Given the description of an element on the screen output the (x, y) to click on. 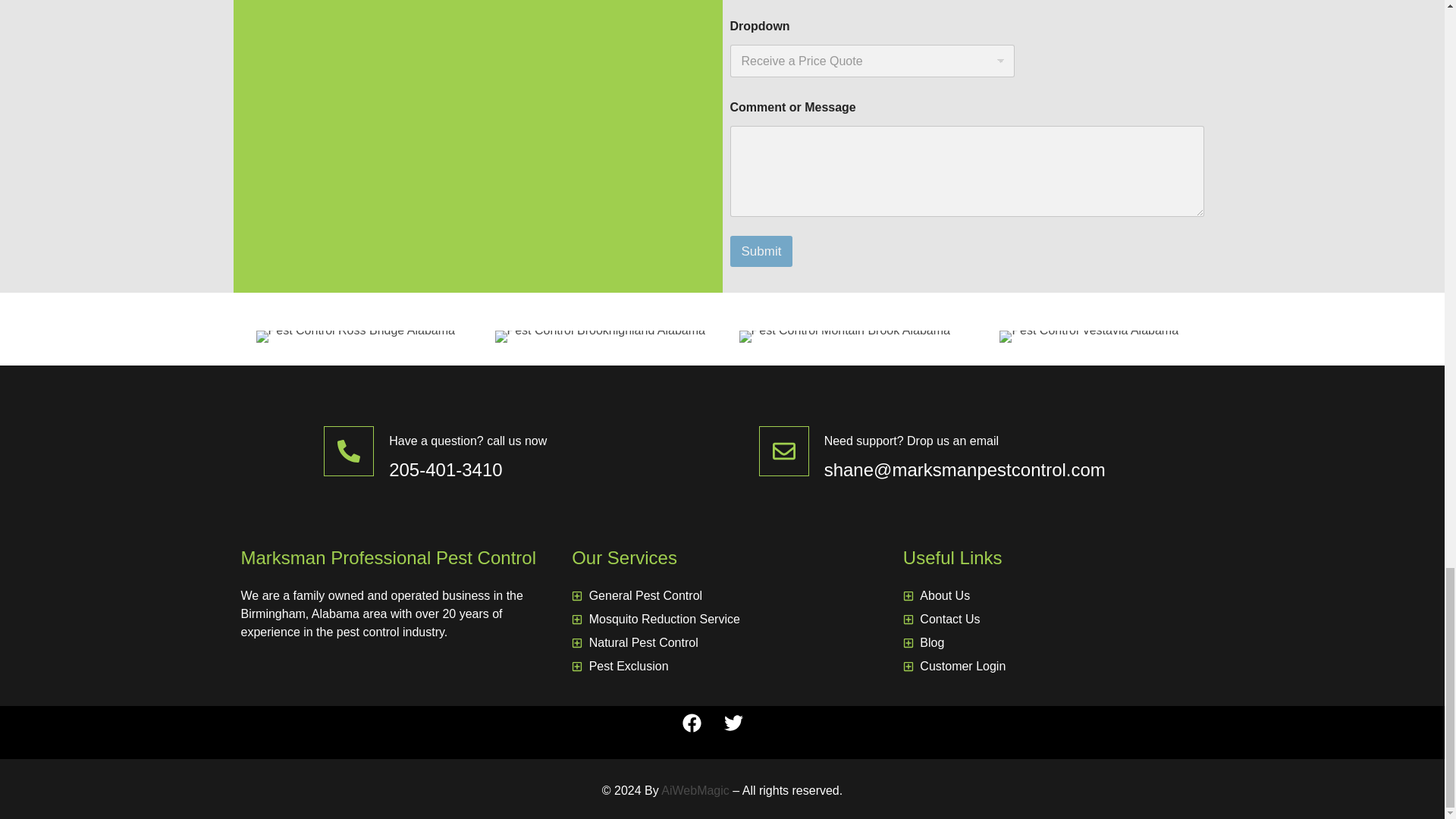
Contact Us (1053, 619)
AiWebMagic (695, 789)
Blog (1053, 642)
Submit (760, 250)
About Us (1053, 596)
Pest Exclusion (722, 666)
Marksman Professional Pest Control (388, 557)
Mosquito Reduction Service (722, 619)
Customer Login (1053, 666)
Natural Pest Control (722, 642)
